Given the description of an element on the screen output the (x, y) to click on. 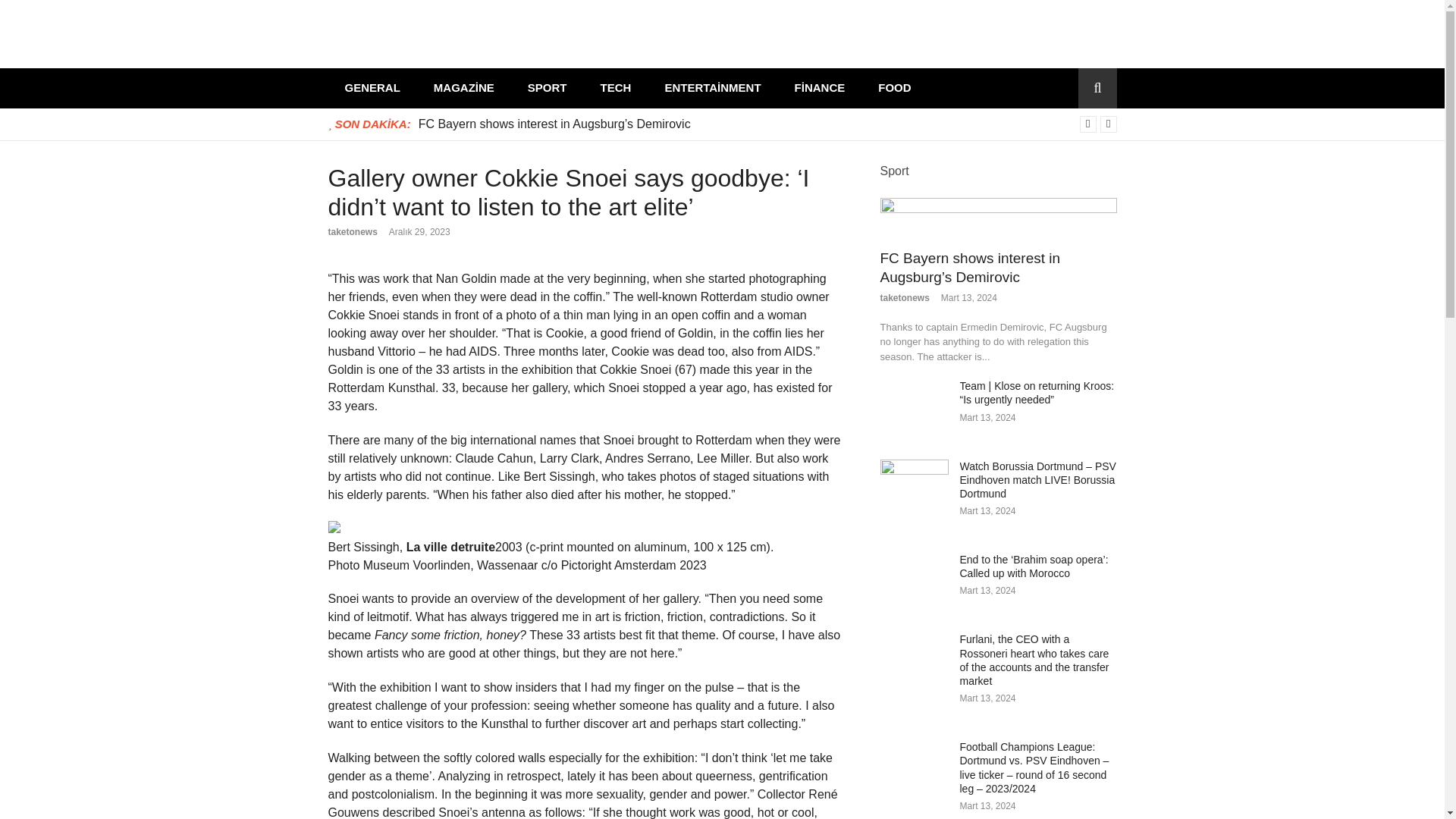
MAGAZINE (463, 87)
taketonews (352, 231)
FOOD (894, 87)
SPORT (547, 87)
Sport (893, 169)
ENTERTAINMENT (712, 87)
TECH (615, 87)
FINANCE (819, 87)
GENERAL (371, 87)
